Given the description of an element on the screen output the (x, y) to click on. 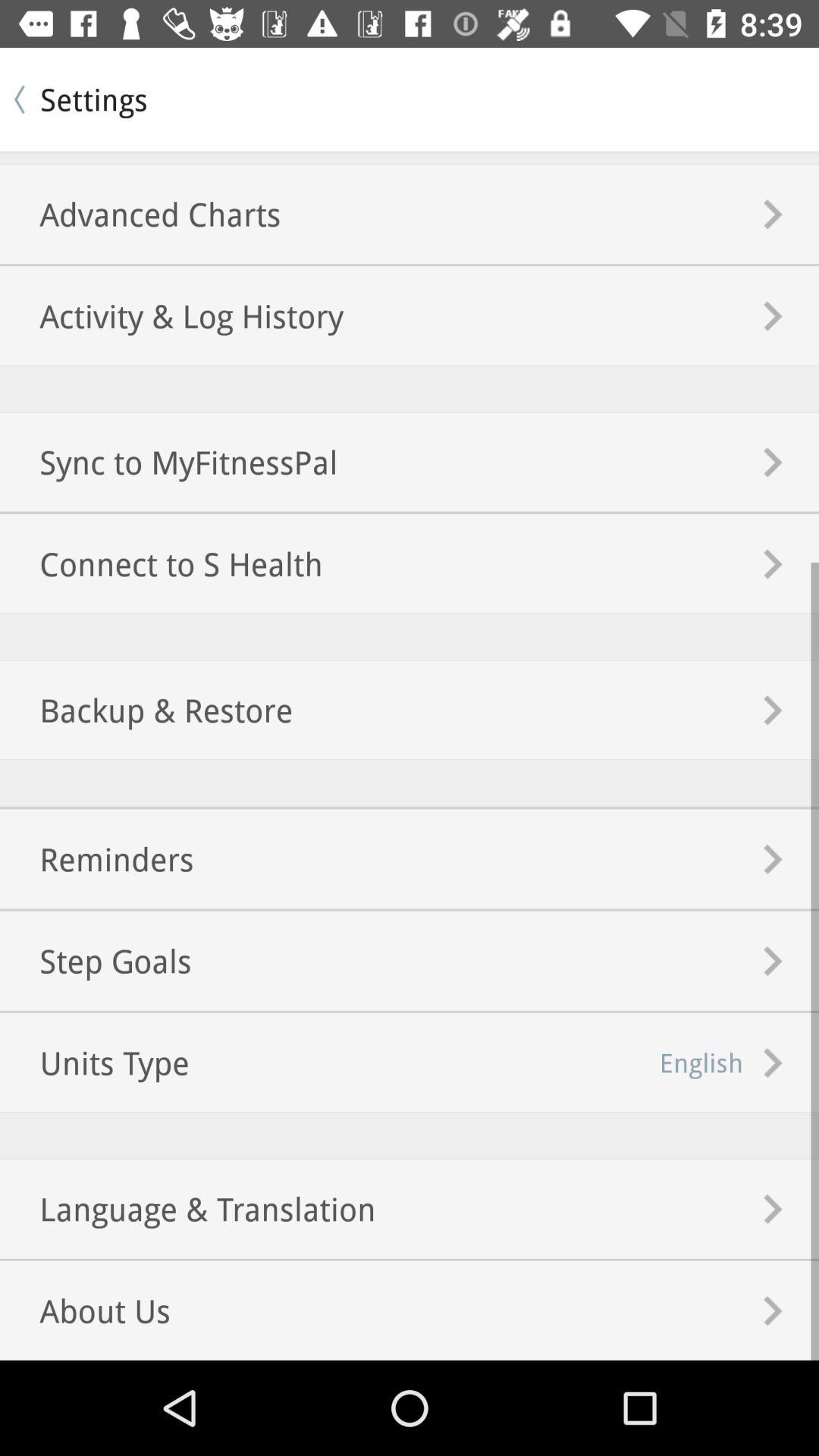
click the language & translation (187, 1208)
